Given the description of an element on the screen output the (x, y) to click on. 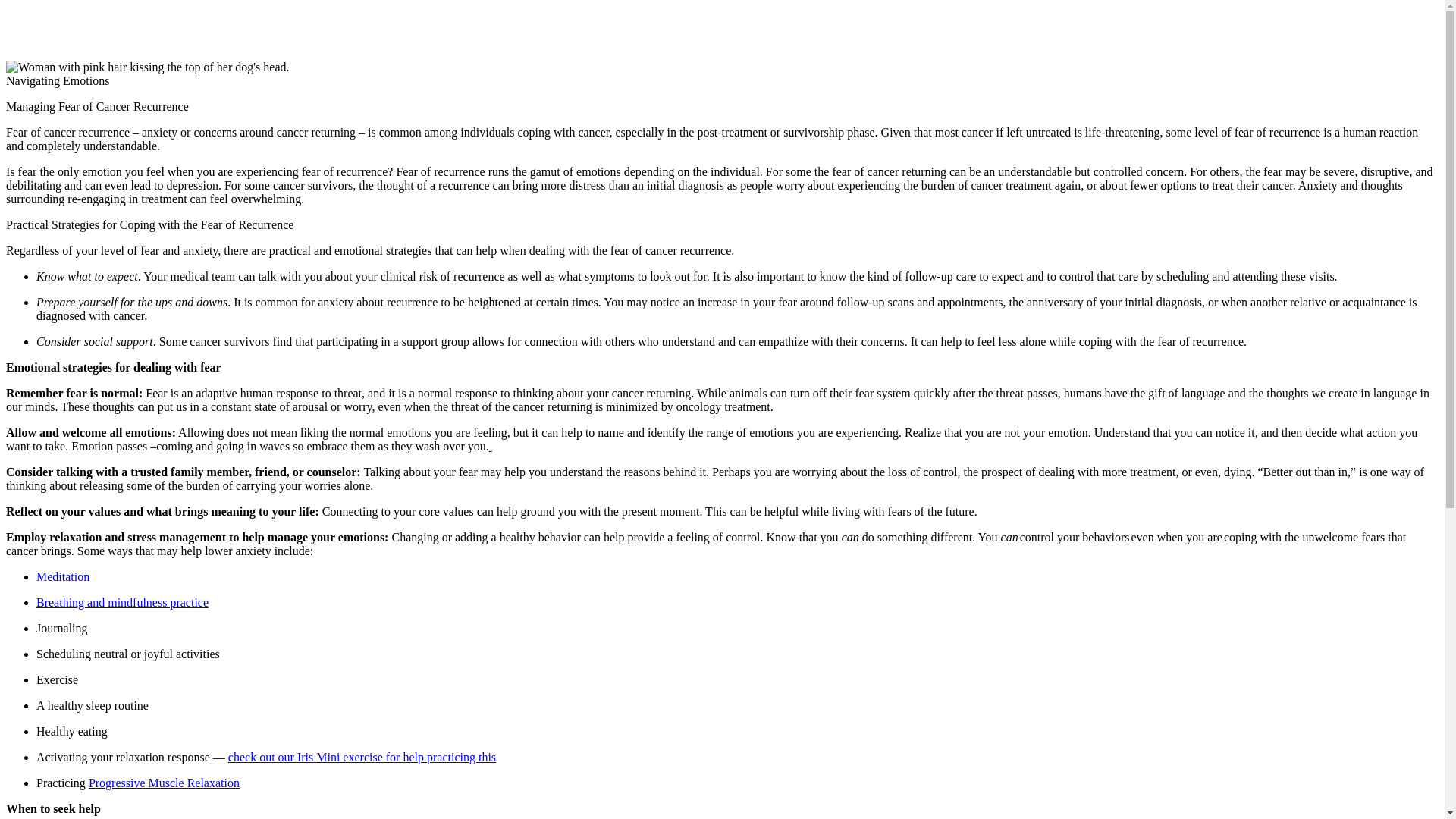
check out our Iris Mini exercise for help practicing this (362, 757)
Progressive Muscle Relaxation (164, 782)
Meditation (62, 576)
Breathing and mindfulness practice (122, 602)
